Given the description of an element on the screen output the (x, y) to click on. 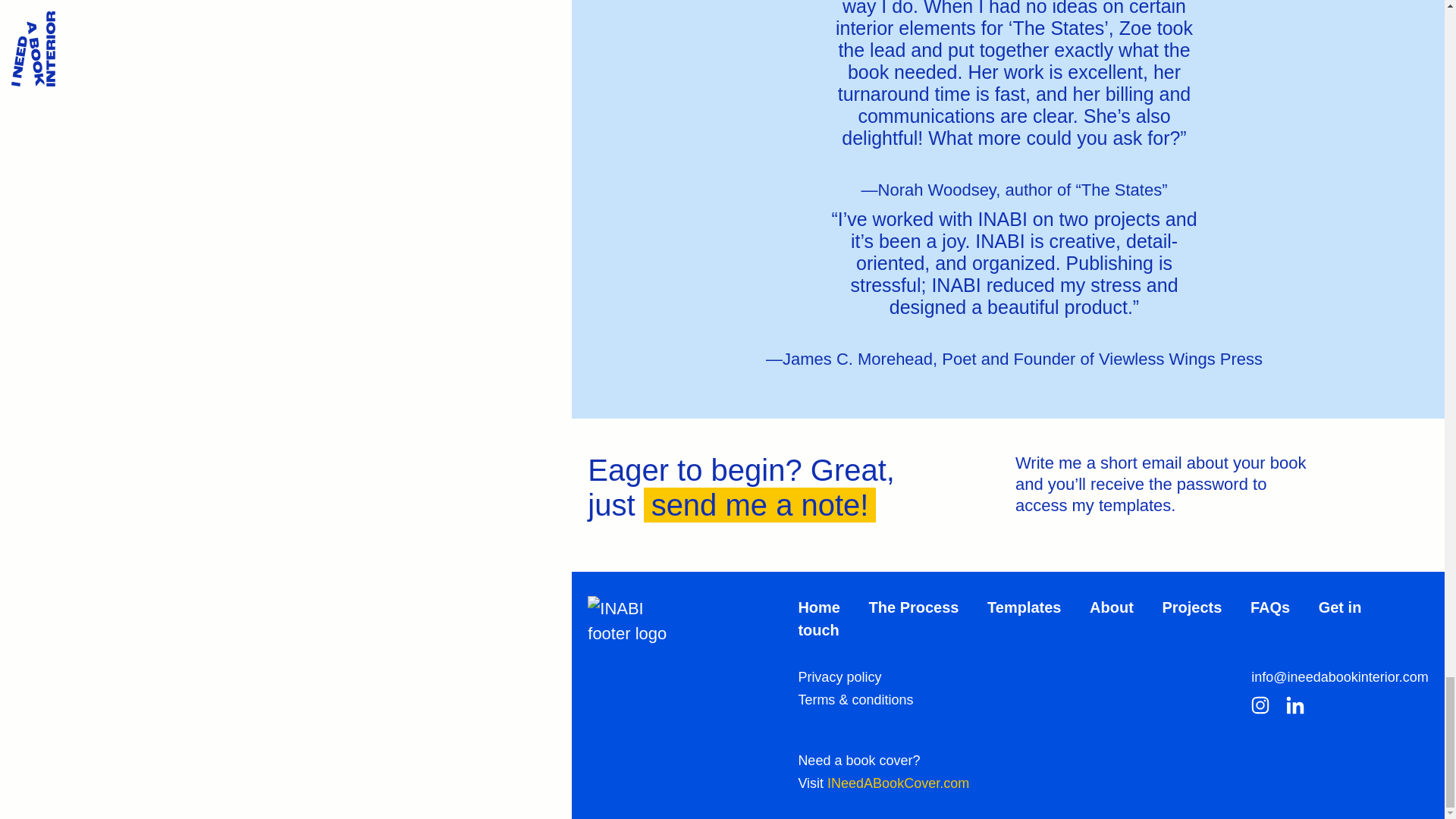
The Process (914, 606)
Projects (1191, 606)
Get in touch (1079, 618)
Templates (1024, 606)
FAQs (1270, 606)
Home (818, 606)
Instagram link opens in new tab (1259, 708)
About (1111, 606)
